Given the description of an element on the screen output the (x, y) to click on. 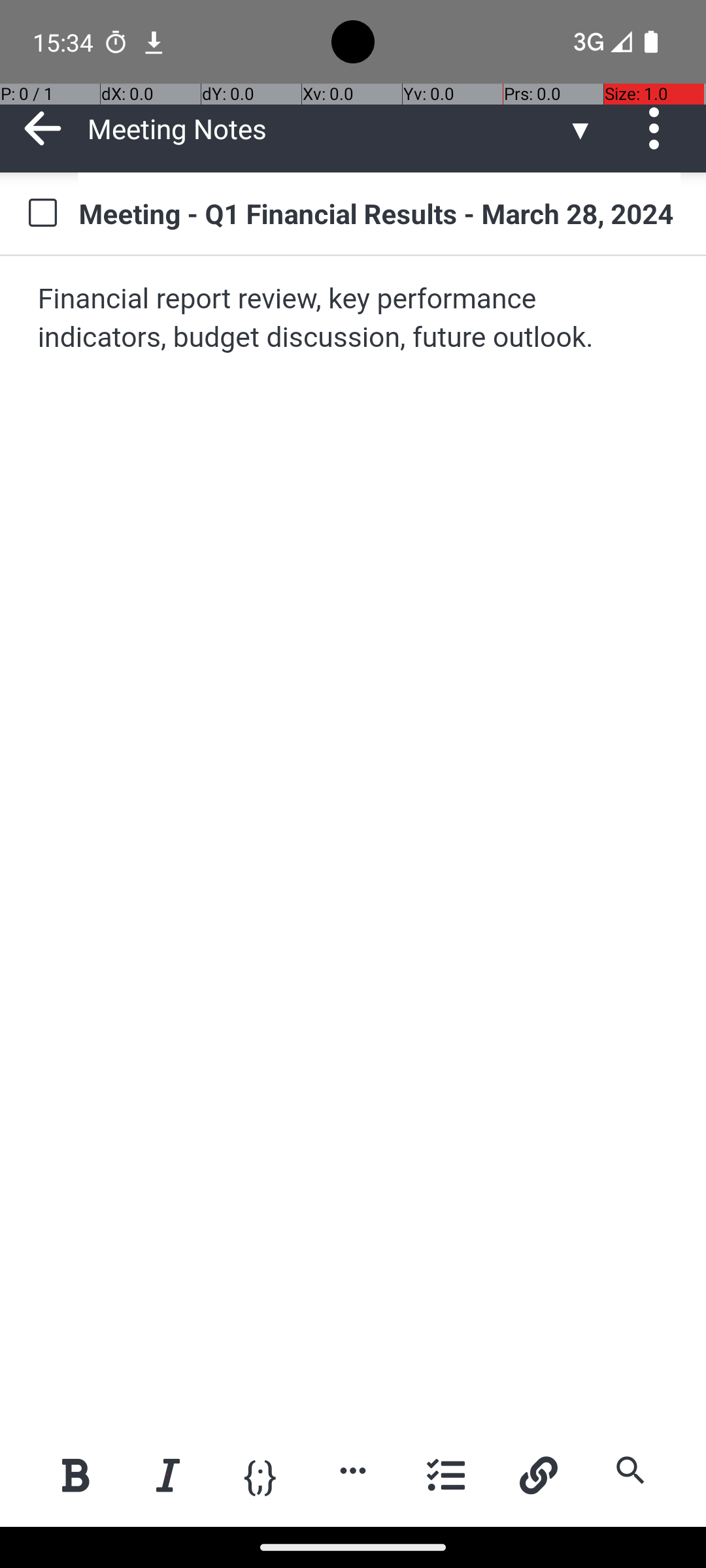
Board Meeting - Q1 Financial Results - March 28, 2024 Element type: android.widget.EditText (378, 213)
Financial report review, key performance indicators, budget discussion, future outlook. Element type: android.widget.EditText (354, 318)
